Given the description of an element on the screen output the (x, y) to click on. 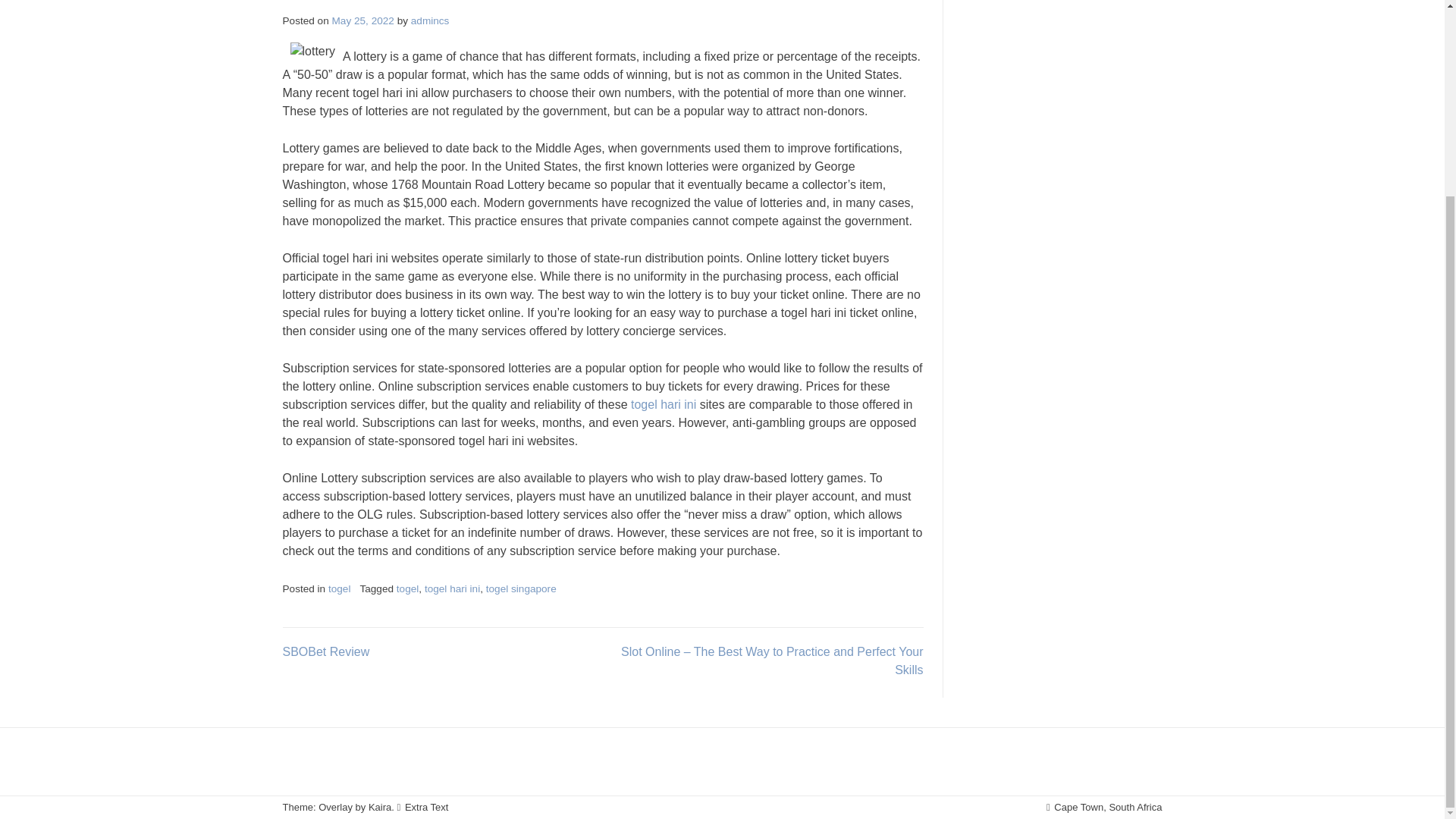
togel hari ini (452, 588)
togel singapore (521, 588)
togel hari ini (662, 404)
admincs (429, 20)
togel (339, 588)
May 25, 2022 (362, 20)
togel (407, 588)
Kaira (379, 807)
SBOBet Review (325, 651)
